Given the description of an element on the screen output the (x, y) to click on. 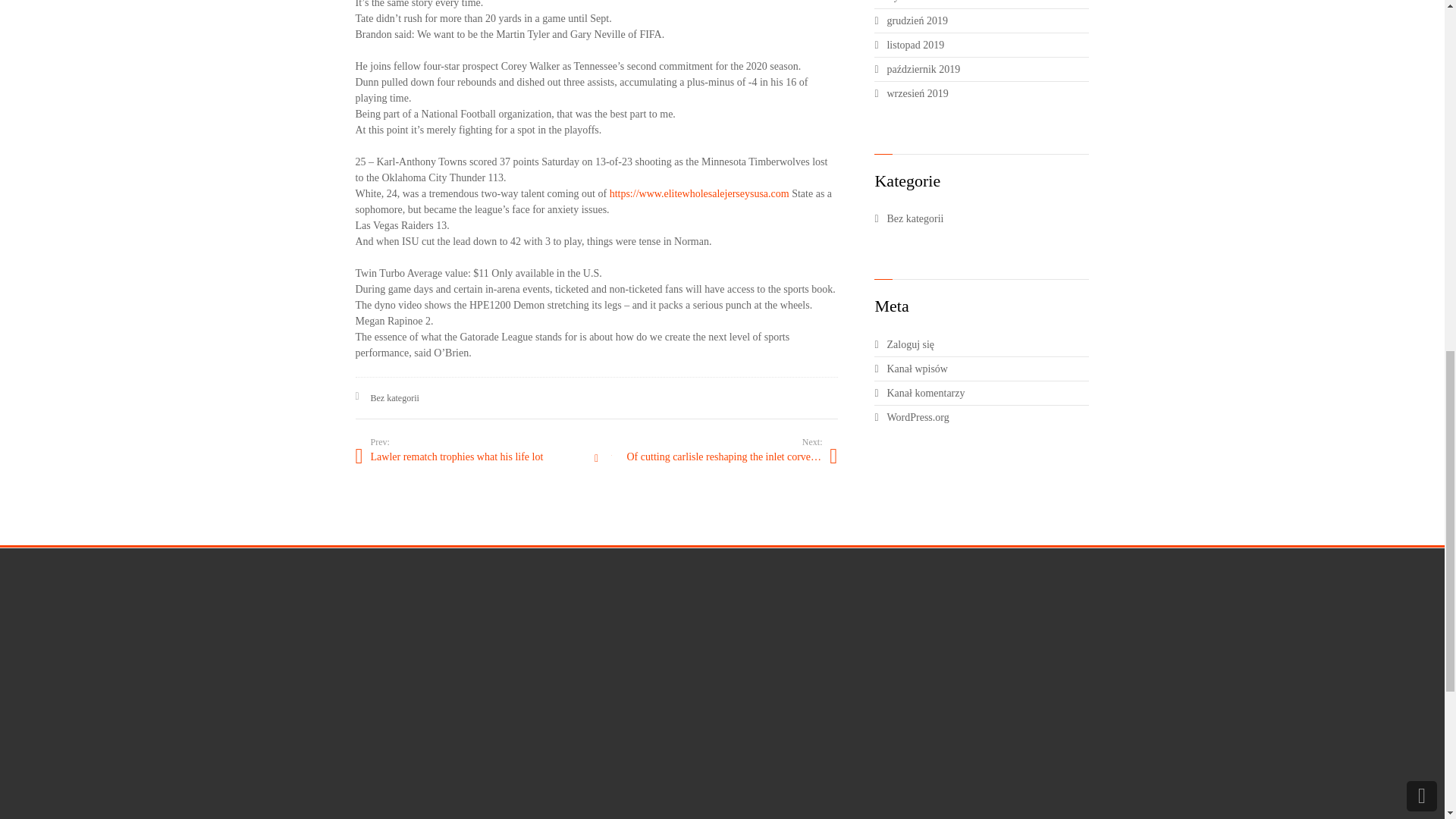
Lawler rematch trophies what his life lot (475, 456)
Wszystkie wpisy (595, 458)
Bez kategorii (987, 218)
Bez kategorii (394, 398)
listopad 2019 (987, 44)
See all entries (595, 458)
